Given the description of an element on the screen output the (x, y) to click on. 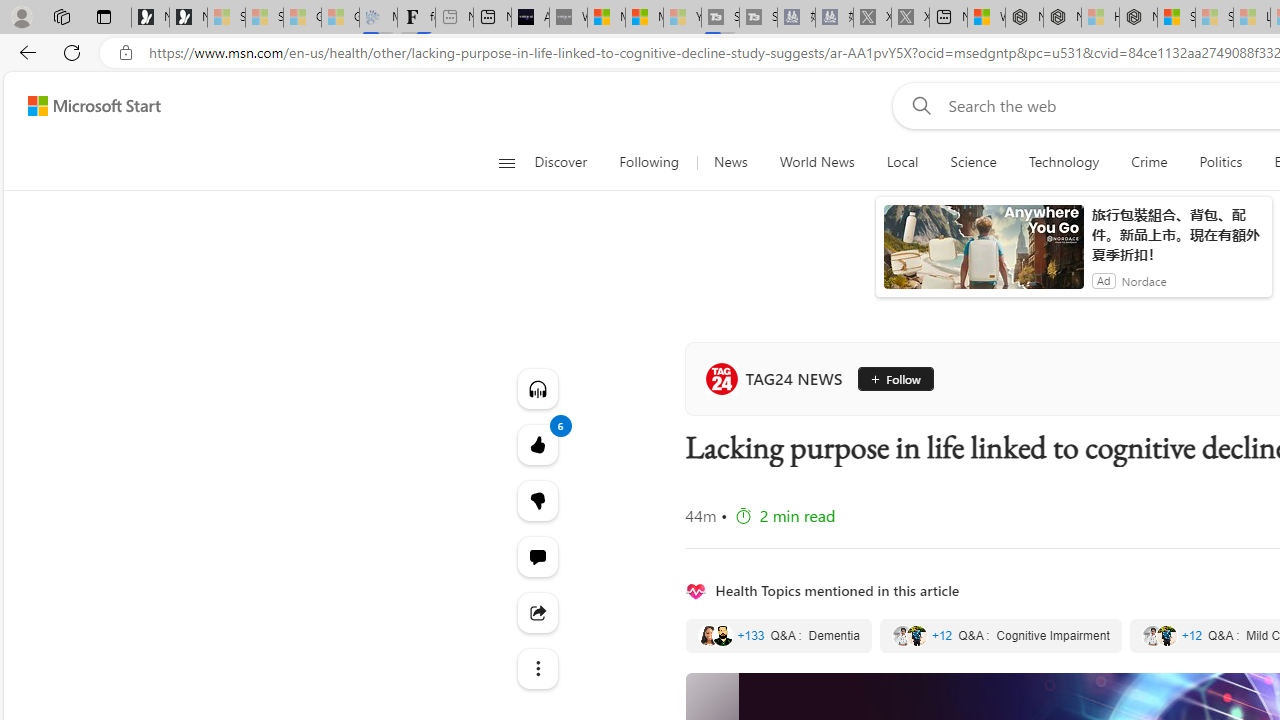
Technology (1064, 162)
What's the best AI voice generator? - voice.ai - Sleeping (568, 17)
Follow (887, 378)
Class: quote-thumbnail (1165, 635)
Share this story (537, 612)
Politics (1220, 162)
TAG24 NEWS (778, 378)
Open navigation menu (506, 162)
